Given the description of an element on the screen output the (x, y) to click on. 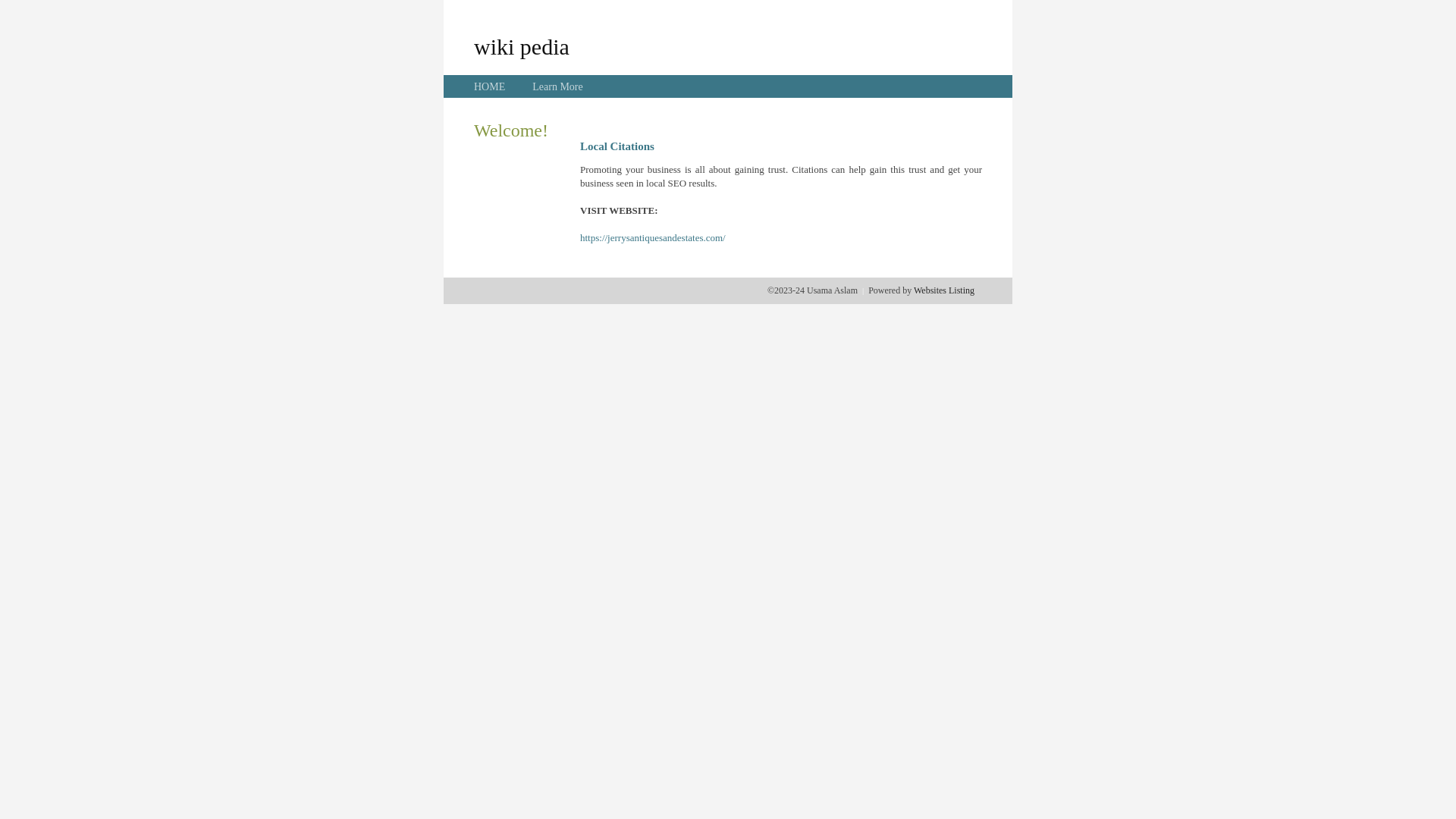
Learn More Element type: text (557, 86)
wiki pedia Element type: text (521, 46)
Websites Listing Element type: text (943, 290)
HOME Element type: text (489, 86)
https://jerrysantiquesandestates.com/ Element type: text (652, 237)
